Given the description of an element on the screen output the (x, y) to click on. 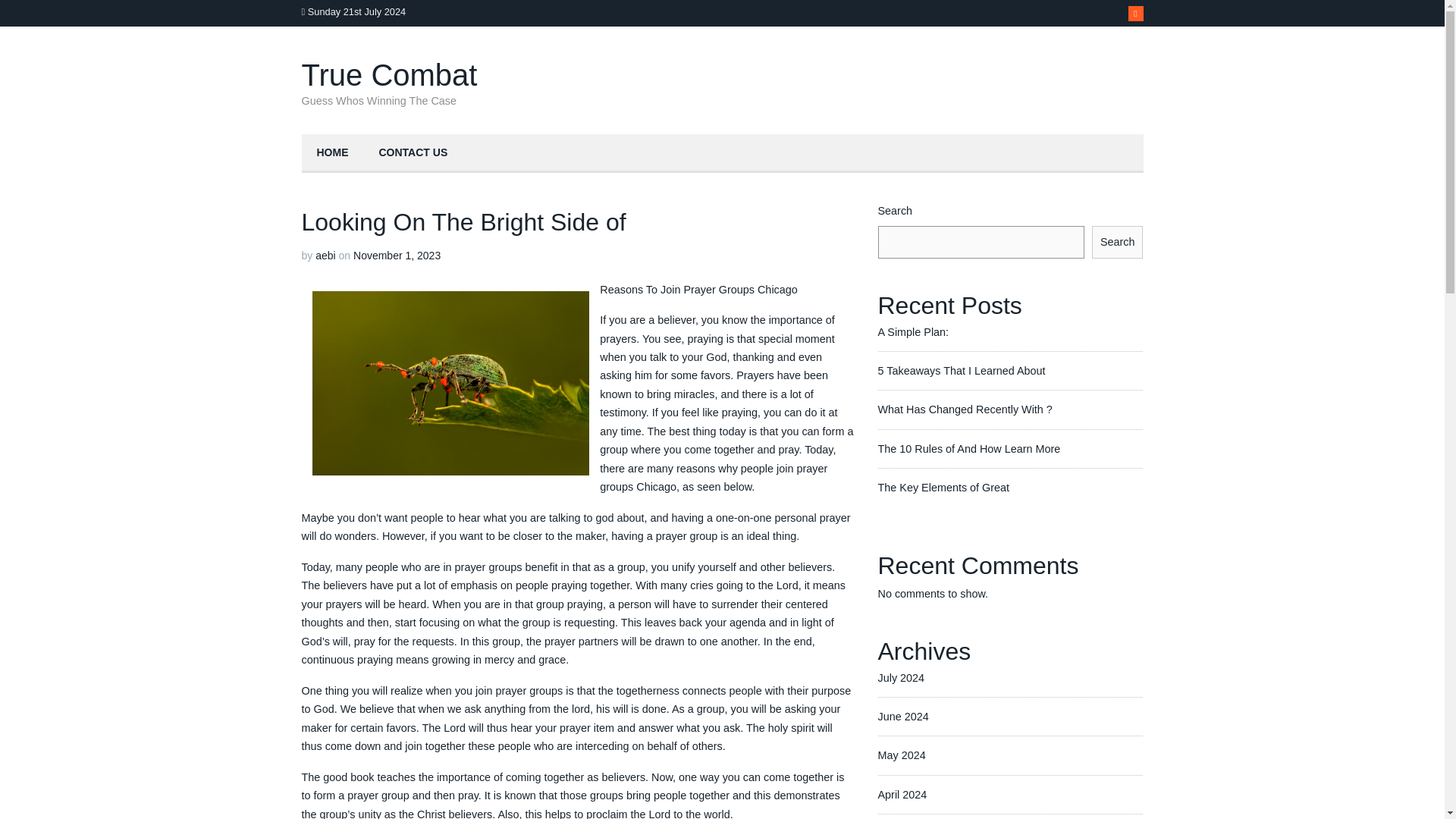
Search (1117, 241)
April 2024 (902, 794)
The Key Elements of Great (943, 487)
HOME (332, 153)
A Simple Plan: (913, 331)
November 1, 2023 (397, 255)
May 2024 (901, 755)
What Has Changed Recently With ? (964, 409)
aebi (324, 255)
June 2024 (902, 716)
CONTACT US (413, 153)
Home (332, 153)
July 2024 (900, 677)
The 10 Rules of And How Learn More (969, 449)
True Combat (389, 74)
